Given the description of an element on the screen output the (x, y) to click on. 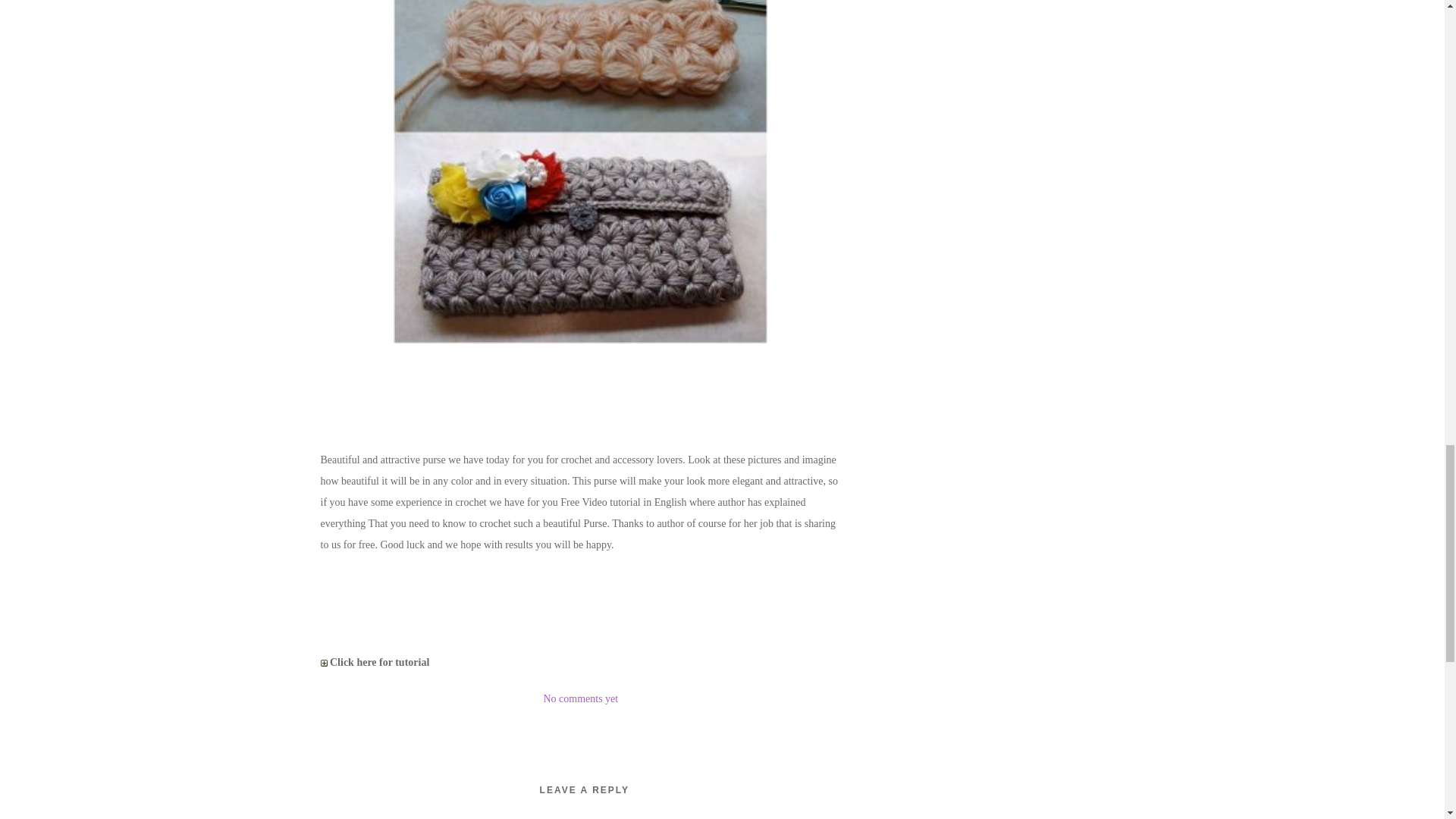
Reveal content (323, 663)
